Given the description of an element on the screen output the (x, y) to click on. 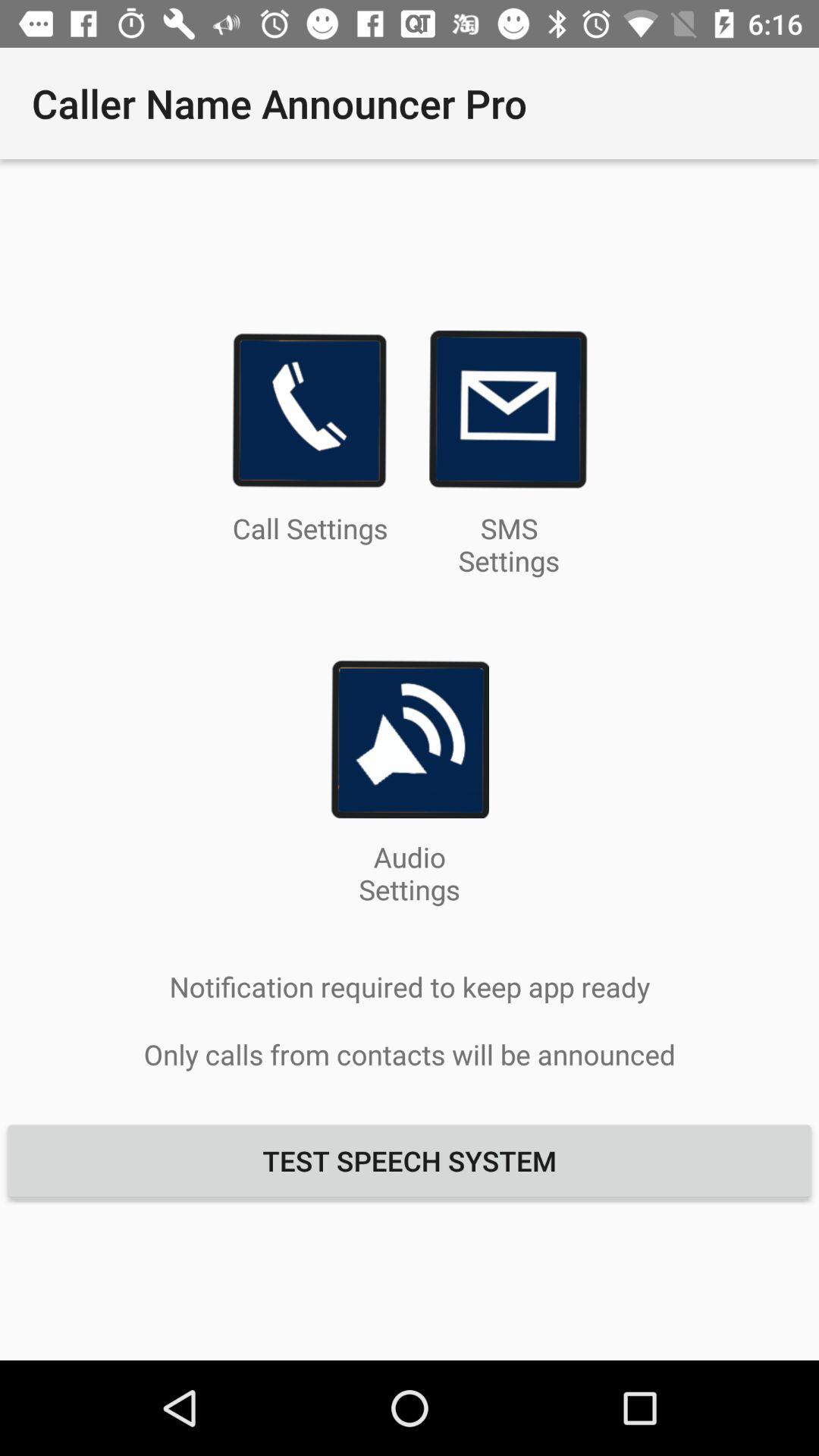
turn on icon above call settings icon (309, 409)
